Given the description of an element on the screen output the (x, y) to click on. 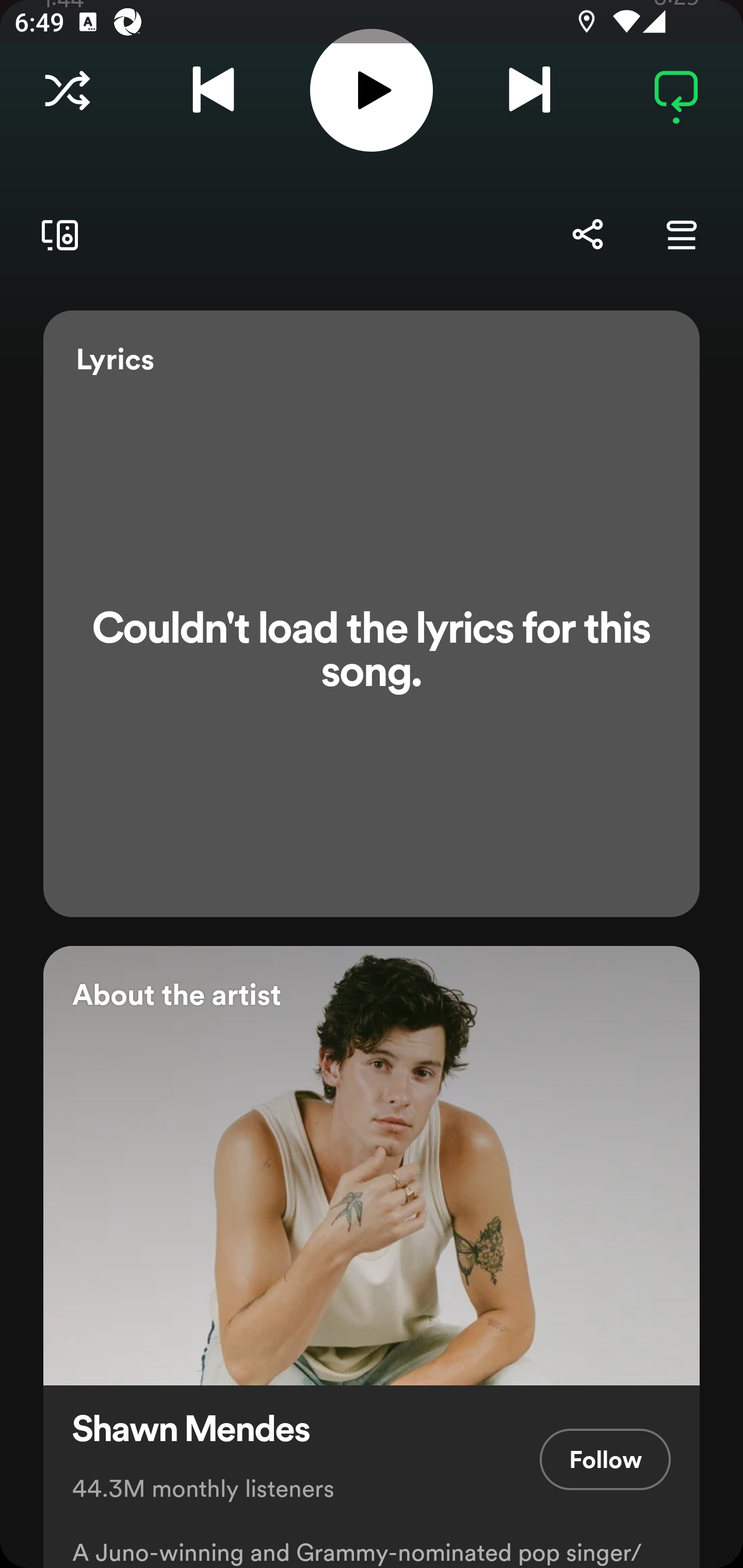
Play (371, 90)
Previous (212, 90)
Next (529, 90)
Choose a Listening Mode (66, 90)
Repeat (676, 90)
Share (587, 234)
Go to Queue (681, 234)
Connect to a device. Opens the devices menu (55, 234)
Follow Follow this Artist (604, 1459)
